Given the description of an element on the screen output the (x, y) to click on. 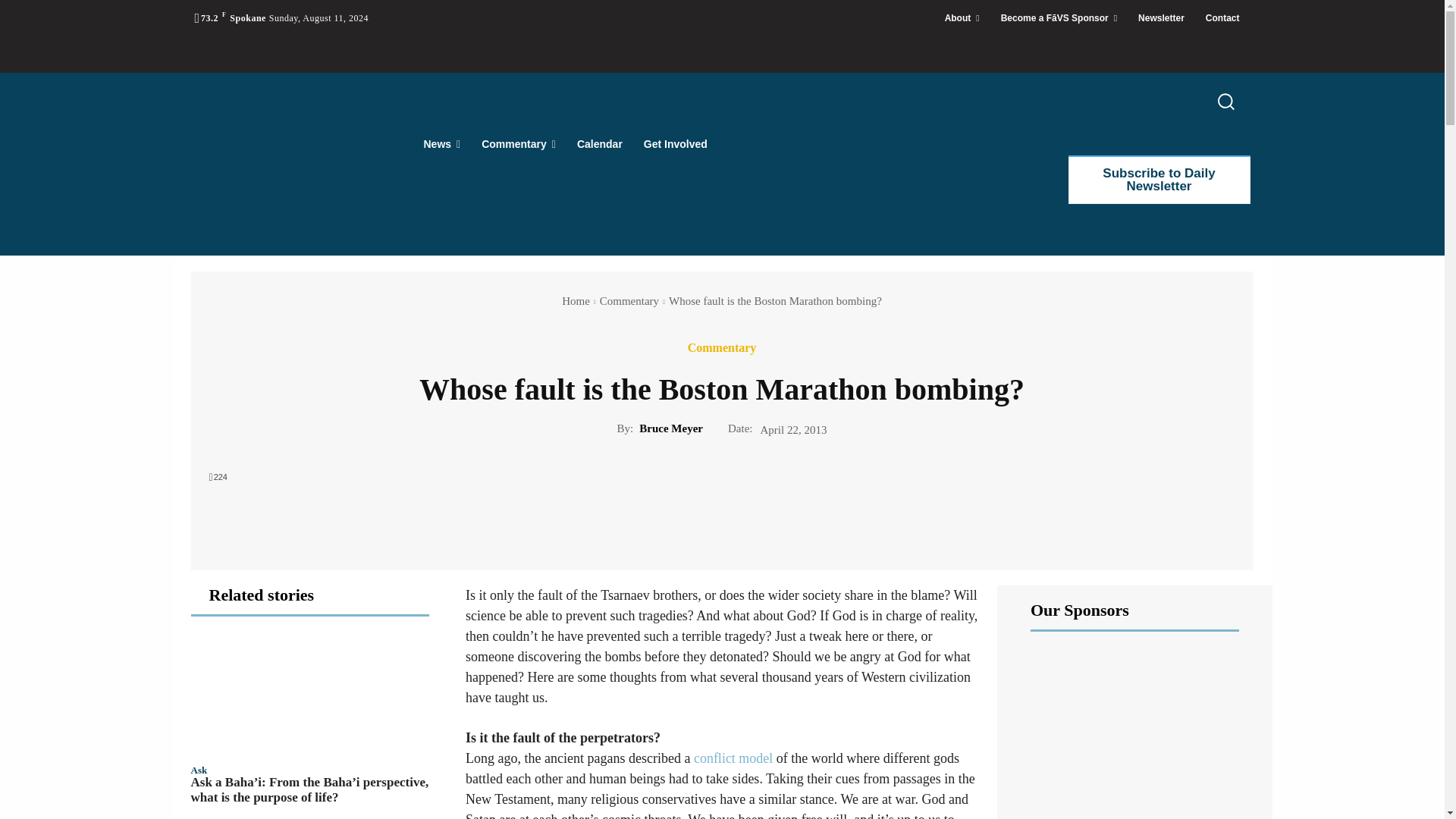
Contact (1222, 18)
About (962, 18)
Newsletter (1160, 18)
News (441, 144)
